Given the description of an element on the screen output the (x, y) to click on. 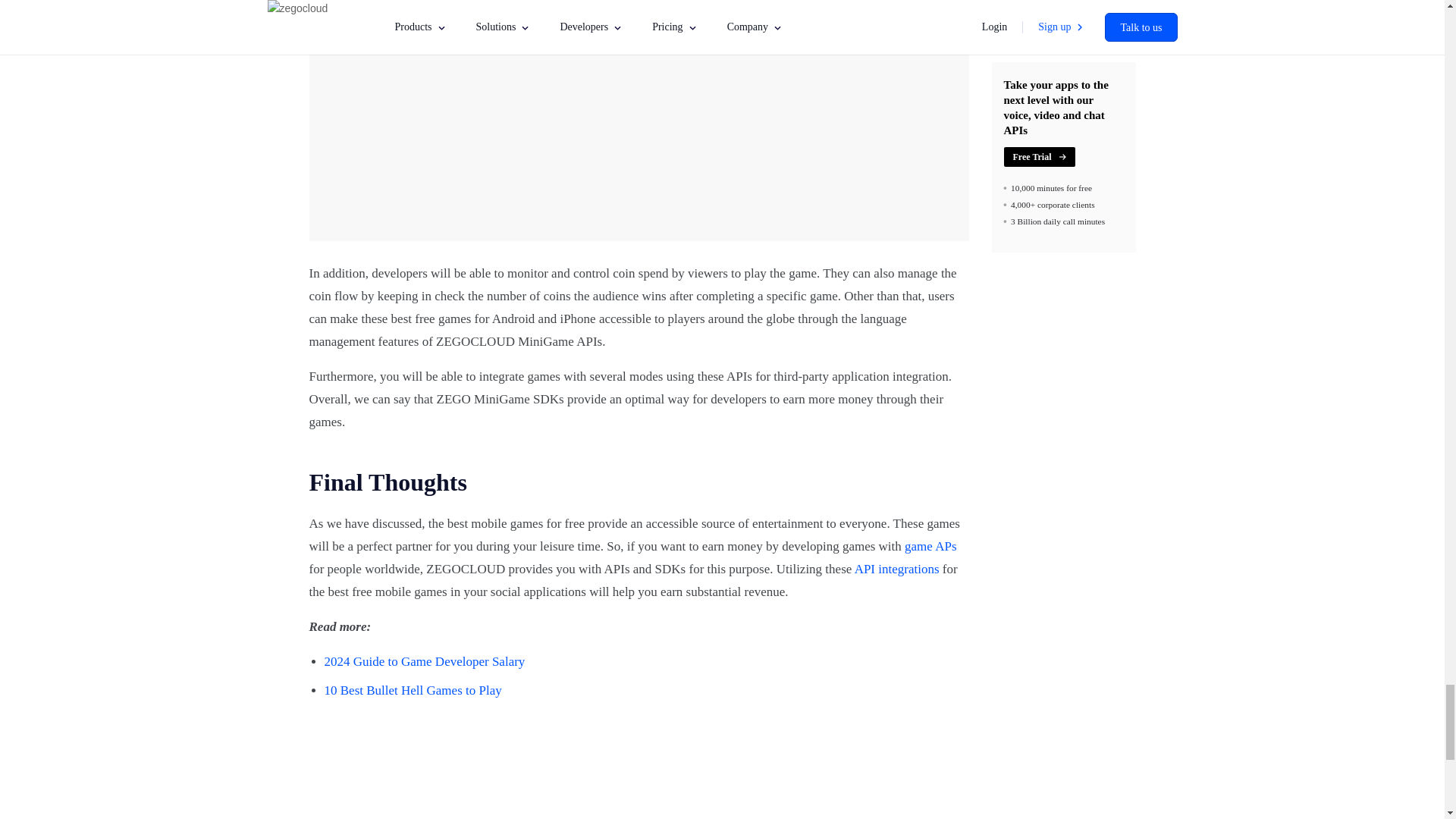
game APs (930, 545)
API integrations (896, 568)
10 Best Bullet Hell Games to Play (413, 690)
2024 Guide to Game Developer Salary (424, 661)
